Given the description of an element on the screen output the (x, y) to click on. 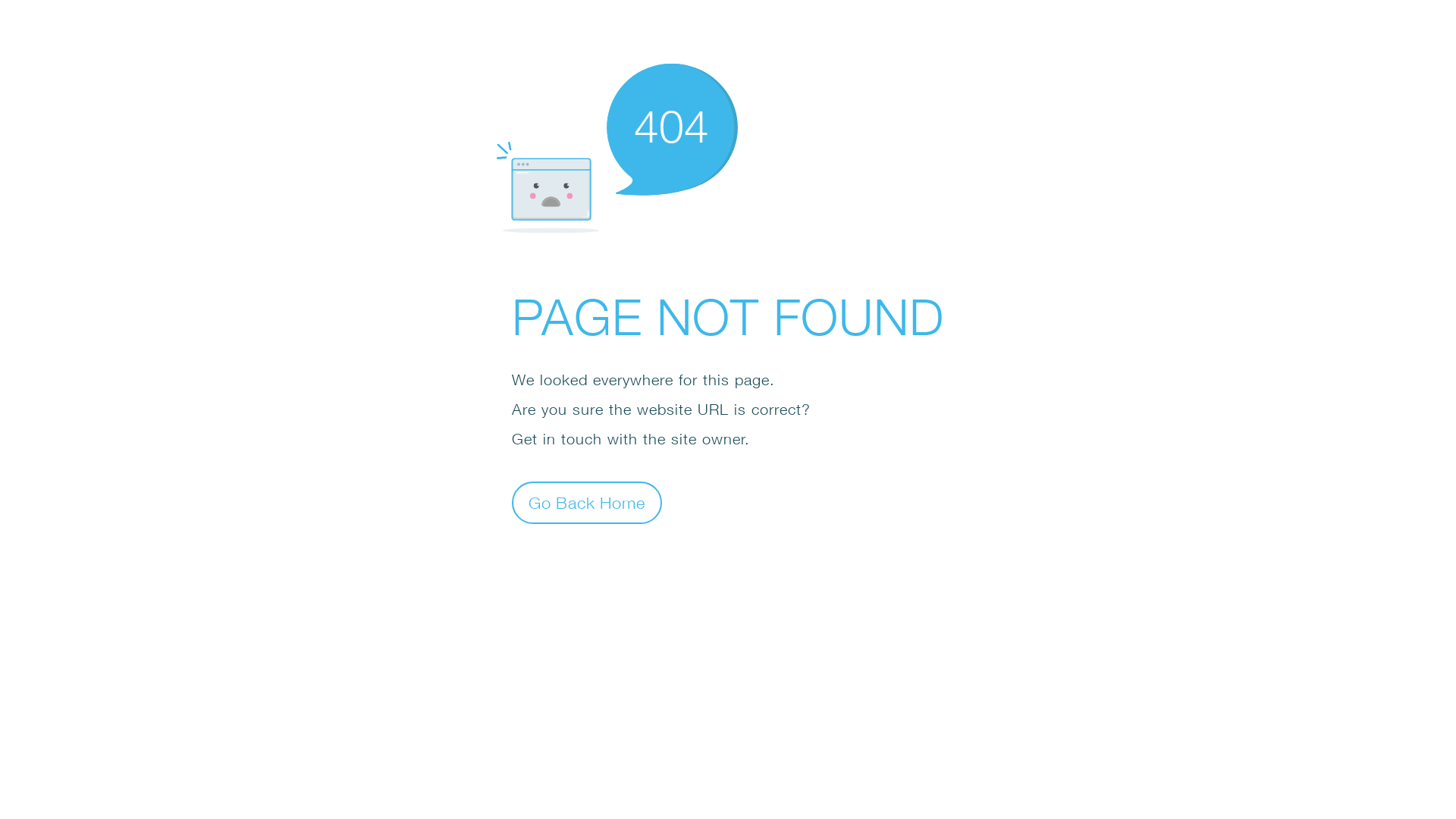
Go Back Home Element type: text (586, 502)
